Given the description of an element on the screen output the (x, y) to click on. 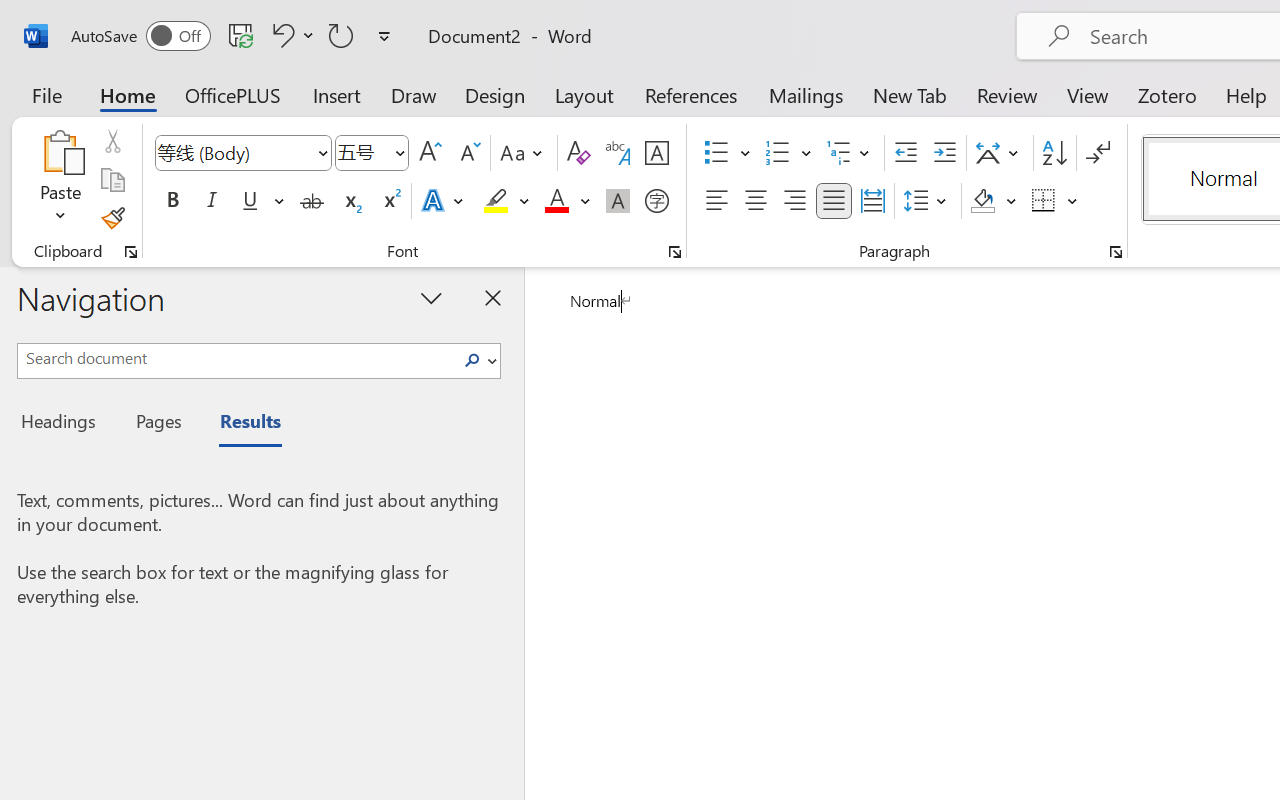
Font Color (567, 201)
View (1087, 94)
Multilevel List (850, 153)
Search document (236, 358)
Undo Apply Quick Style (280, 35)
Text Effects and Typography (444, 201)
New Tab (909, 94)
Increase Indent (944, 153)
References (690, 94)
Mailings (806, 94)
